Given the description of an element on the screen output the (x, y) to click on. 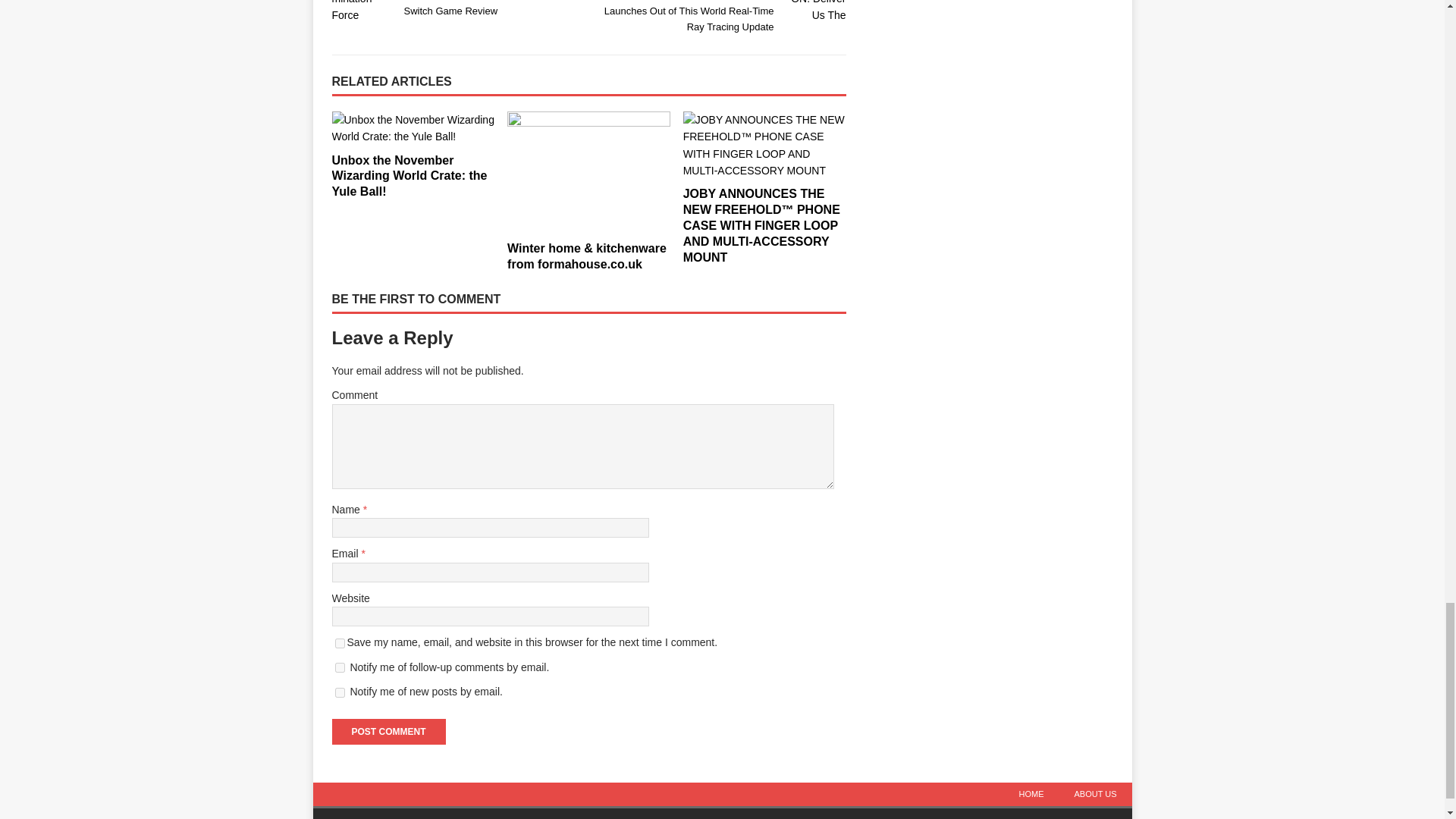
subscribe (339, 692)
Post Comment (388, 731)
subscribe (339, 667)
yes (339, 643)
